Given the description of an element on the screen output the (x, y) to click on. 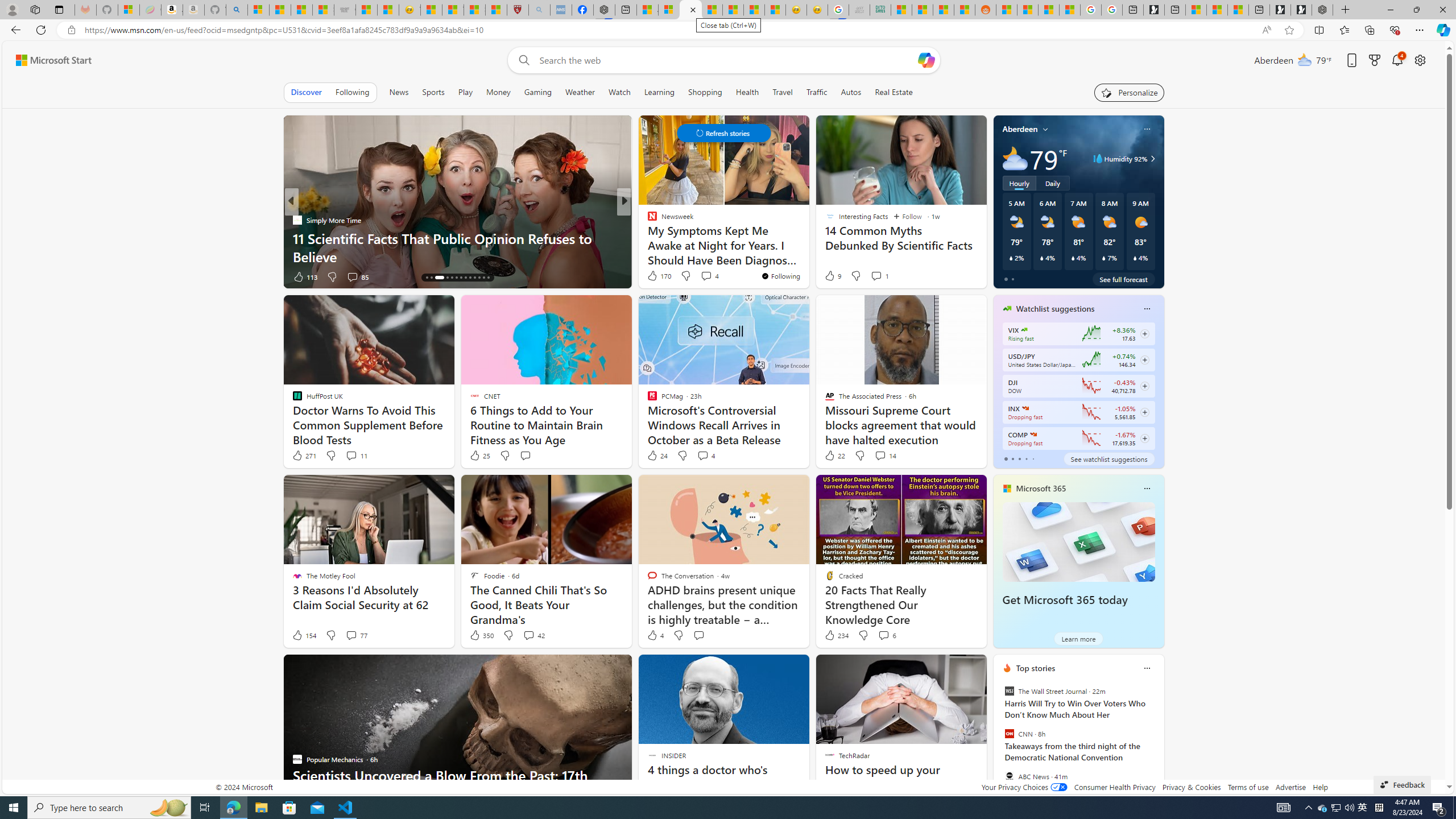
View comments 1 Comment (879, 275)
Health (746, 92)
AutomationID: tab-26 (488, 277)
Class: weather-current-precipitation-glyph (1134, 257)
View comments 6 Comment (883, 635)
Hide this story (841, 668)
404 Like (654, 276)
